Given the description of an element on the screen output the (x, y) to click on. 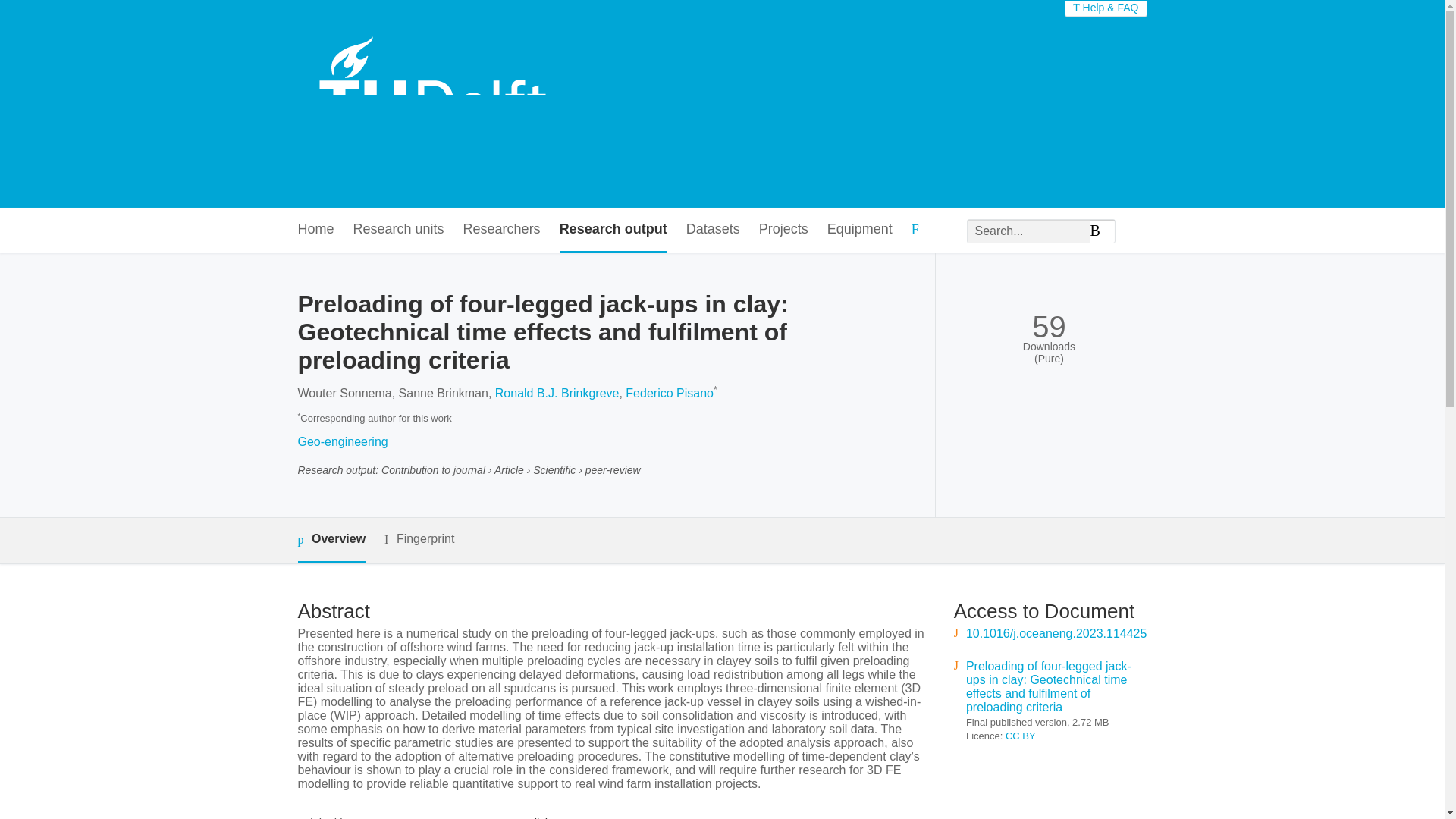
Researchers (501, 230)
Datasets (712, 230)
Federico Pisano (669, 392)
Geo-engineering (342, 440)
Equipment (859, 230)
TU Delft Research Portal Home (438, 103)
Research units (398, 230)
Projects (783, 230)
